Given the description of an element on the screen output the (x, y) to click on. 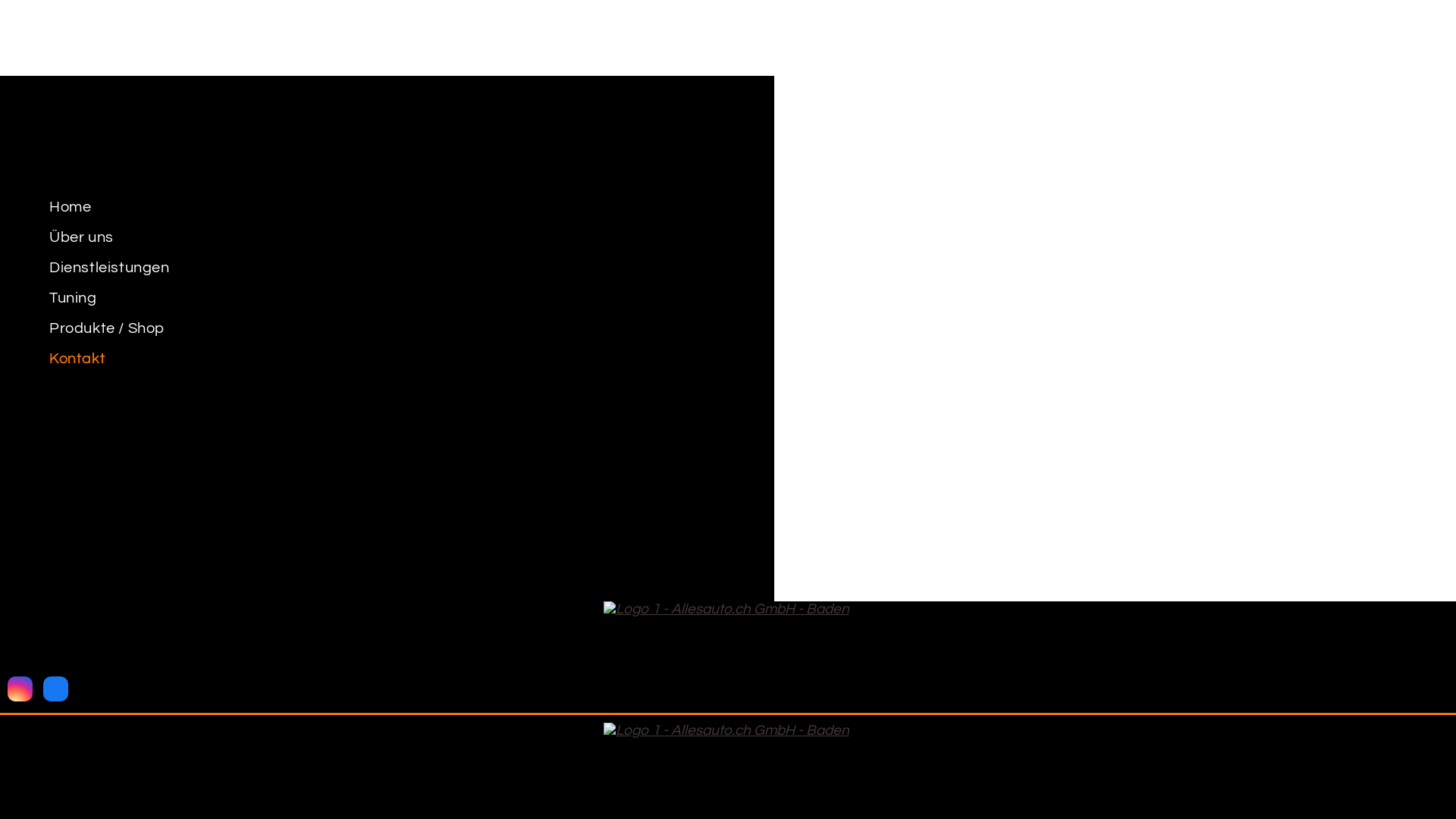
Home Element type: text (386, 206)
Dienstleistungen Element type: text (386, 267)
Kontakt Element type: text (386, 358)
Tuning Element type: text (386, 297)
Produkte / Shop Element type: text (386, 328)
